Given the description of an element on the screen output the (x, y) to click on. 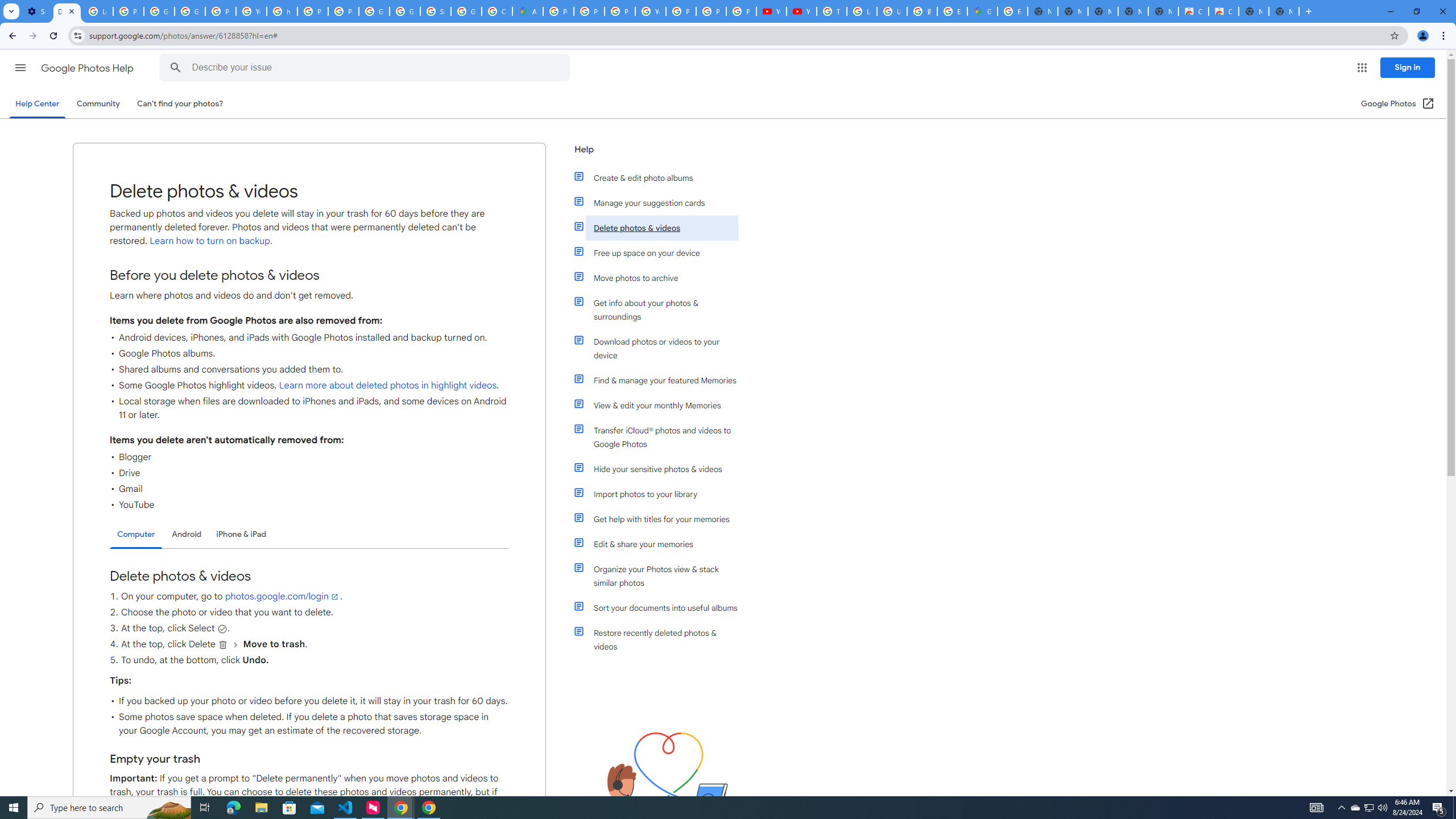
Organize your Photos view & stack similar photos (661, 575)
Get help with titles for your memories (661, 518)
